Given the description of an element on the screen output the (x, y) to click on. 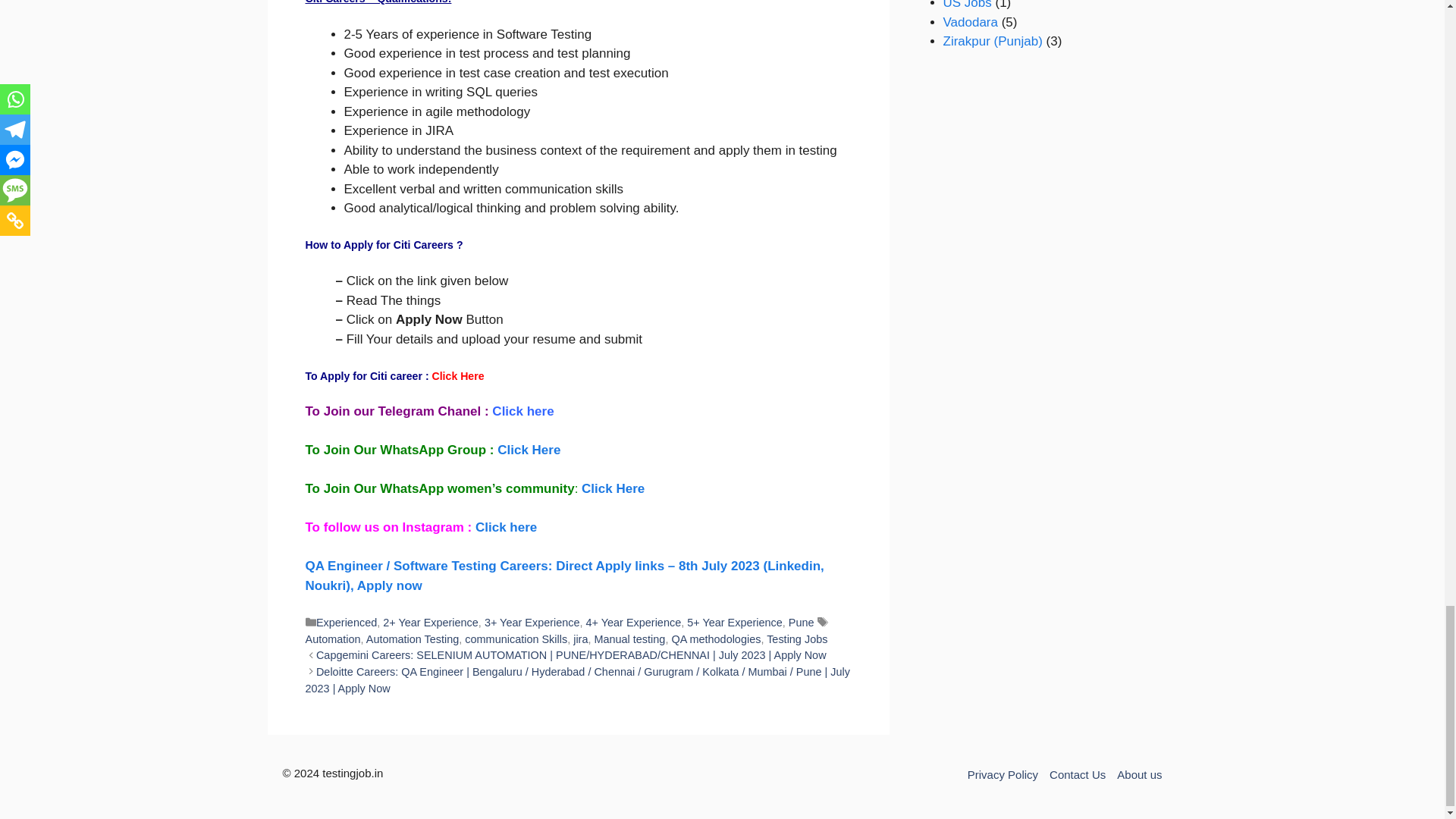
Click Here (458, 376)
